Given the description of an element on the screen output the (x, y) to click on. 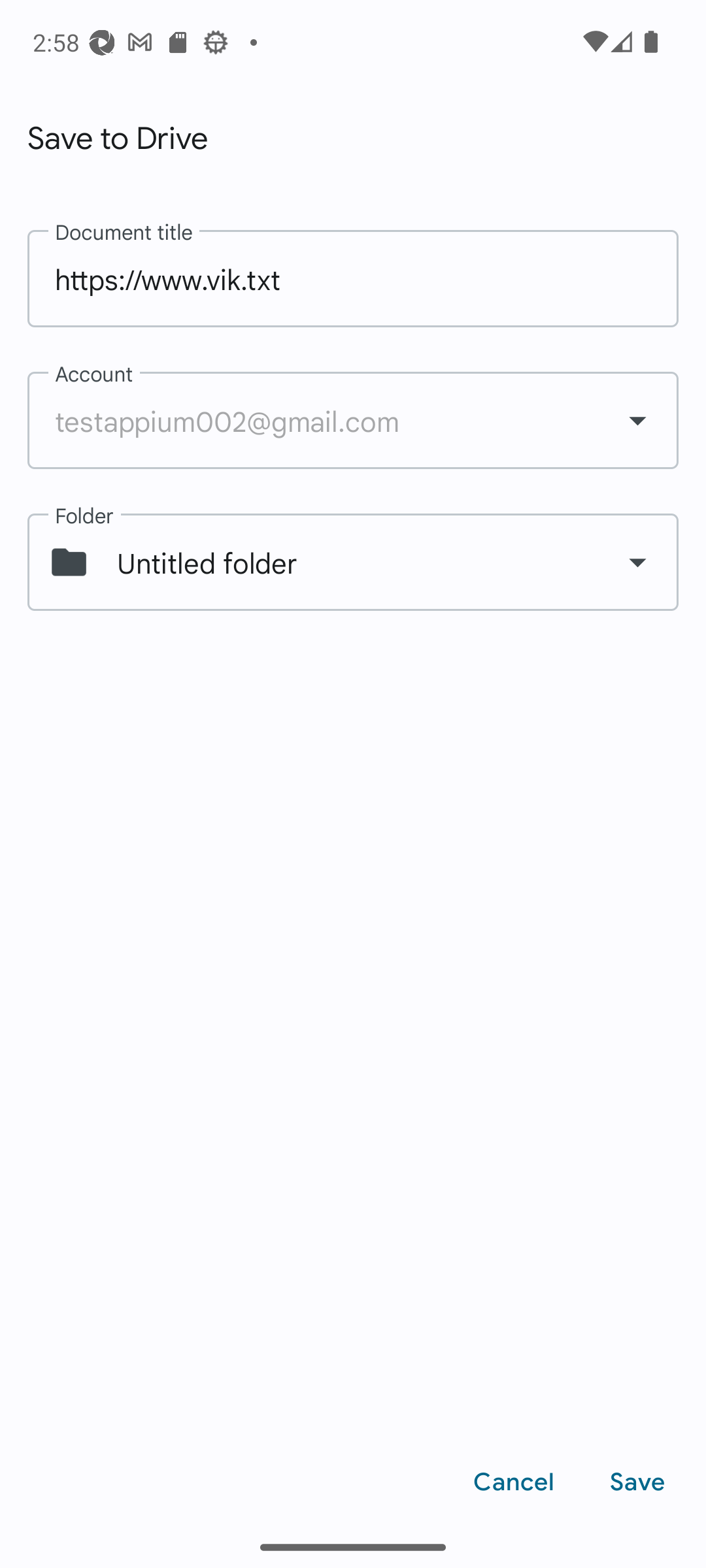
https://www.vik.txt (352, 278)
Show dropdown menu (636, 419)
Untitled folder Untitled folder. Click to change. (352, 562)
Show dropdown menu (636, 561)
Cancel (513, 1482)
Save (637, 1482)
